Given the description of an element on the screen output the (x, y) to click on. 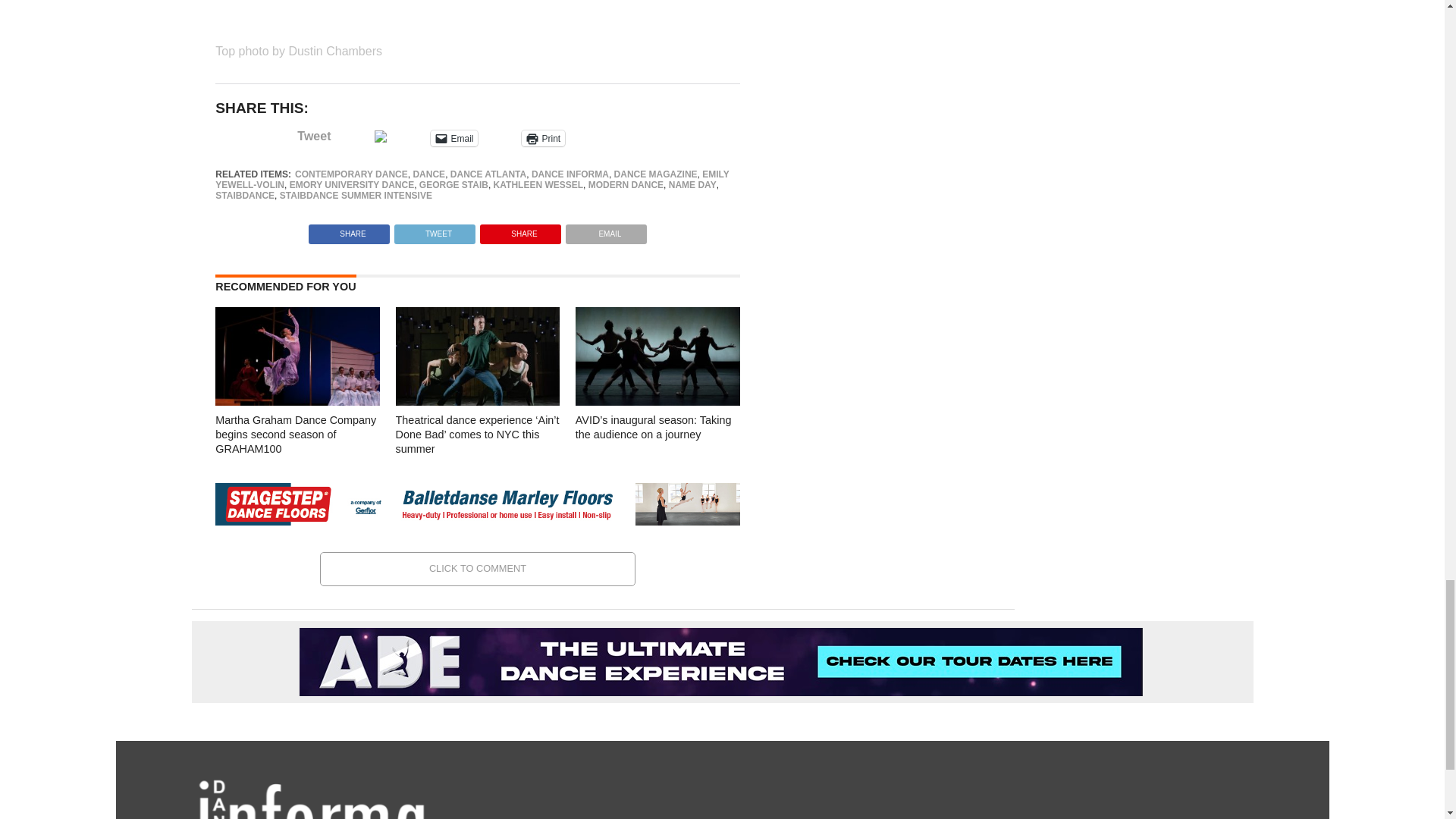
Click to email a link to a friend (453, 138)
Click to print (542, 138)
Share on Facebook (349, 229)
Tweet This Post (434, 229)
Pin This Post (520, 229)
